Given the description of an element on the screen output the (x, y) to click on. 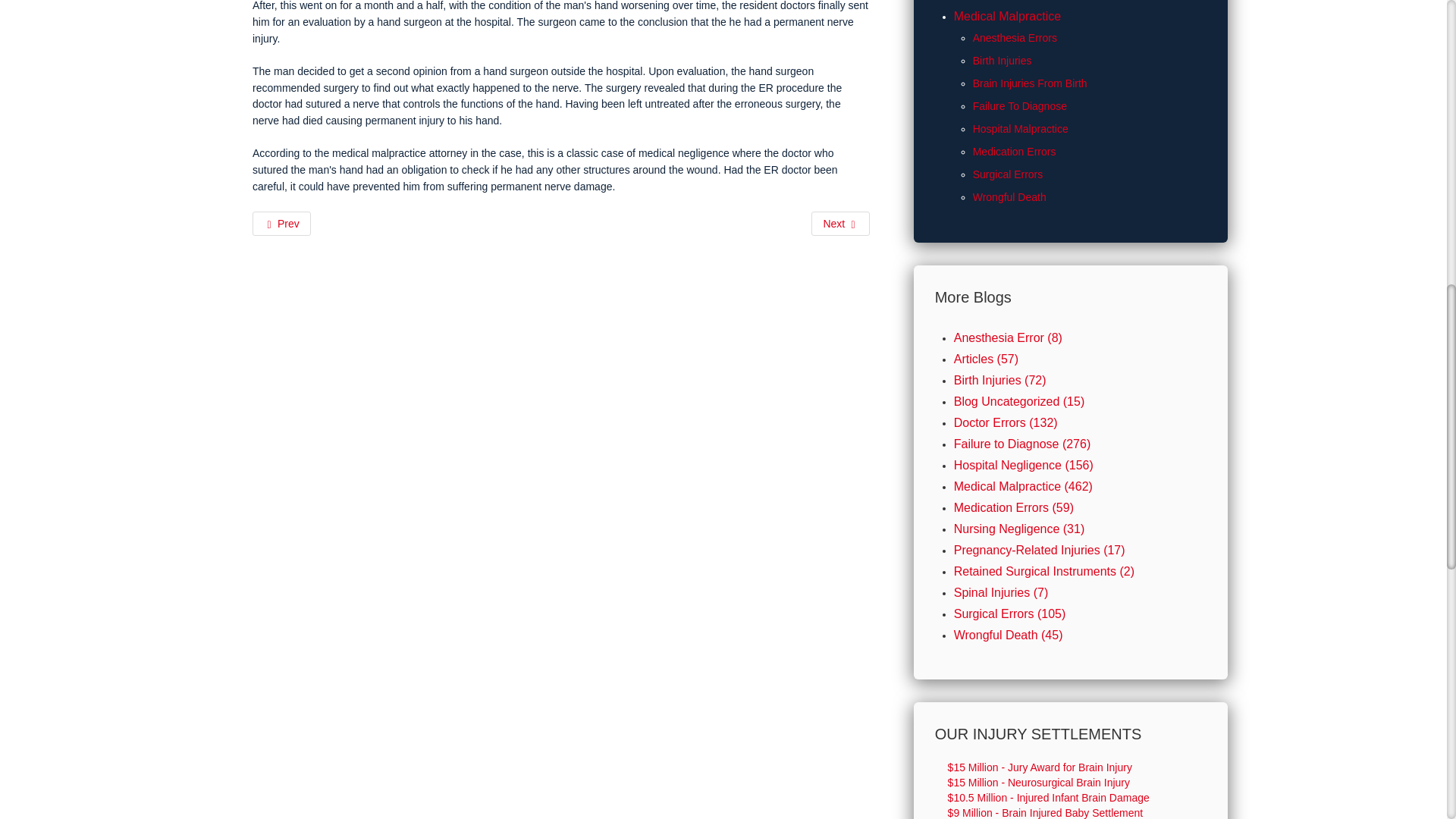
Multiple patients get sick after getting simulated saline (839, 223)
Importance of Patient Safety Rules (281, 223)
